Given the description of an element on the screen output the (x, y) to click on. 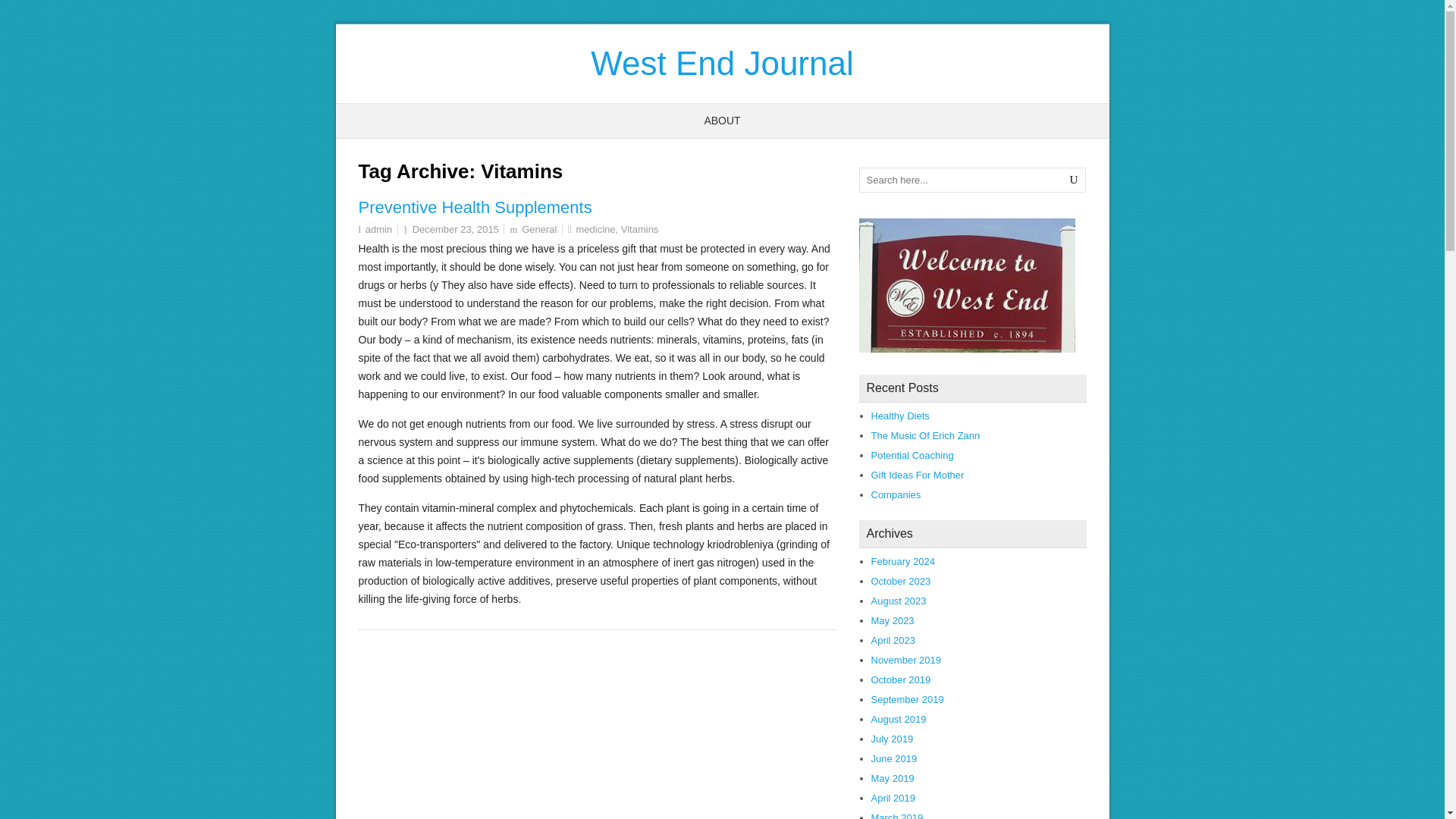
March 2019 (896, 815)
Companies (895, 494)
November 2019 (905, 659)
August 2023 (898, 600)
June 2019 (893, 758)
May 2023 (892, 620)
General (538, 229)
ABOUT (721, 121)
Potential Coaching (911, 455)
May 2019 (892, 778)
